Given the description of an element on the screen output the (x, y) to click on. 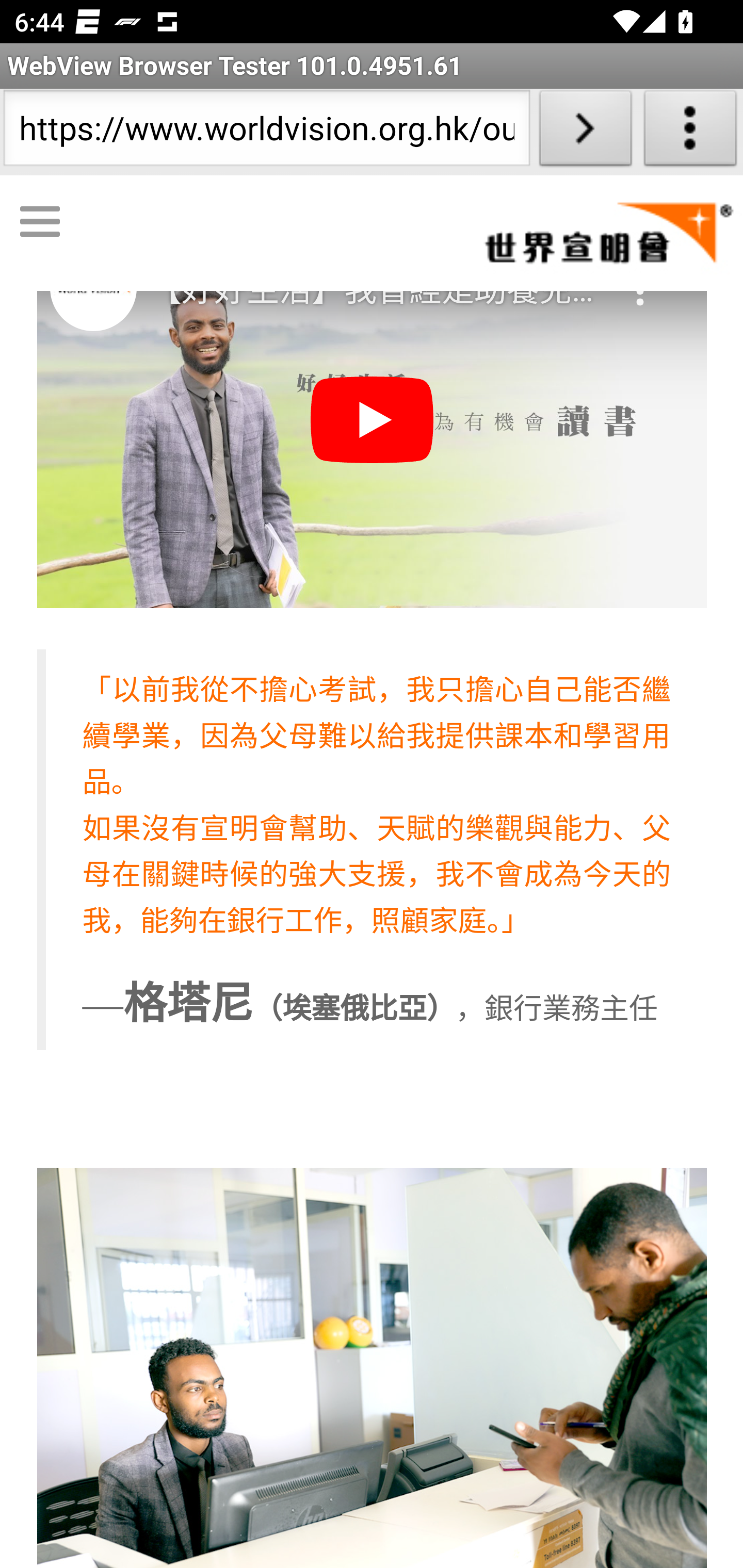
Load URL (585, 132)
About WebView (690, 132)
More (641, 280)
Photo image of World Vision Hong Kong香港世界宣明會 (92, 288)
Play (372, 421)
